Given the description of an element on the screen output the (x, y) to click on. 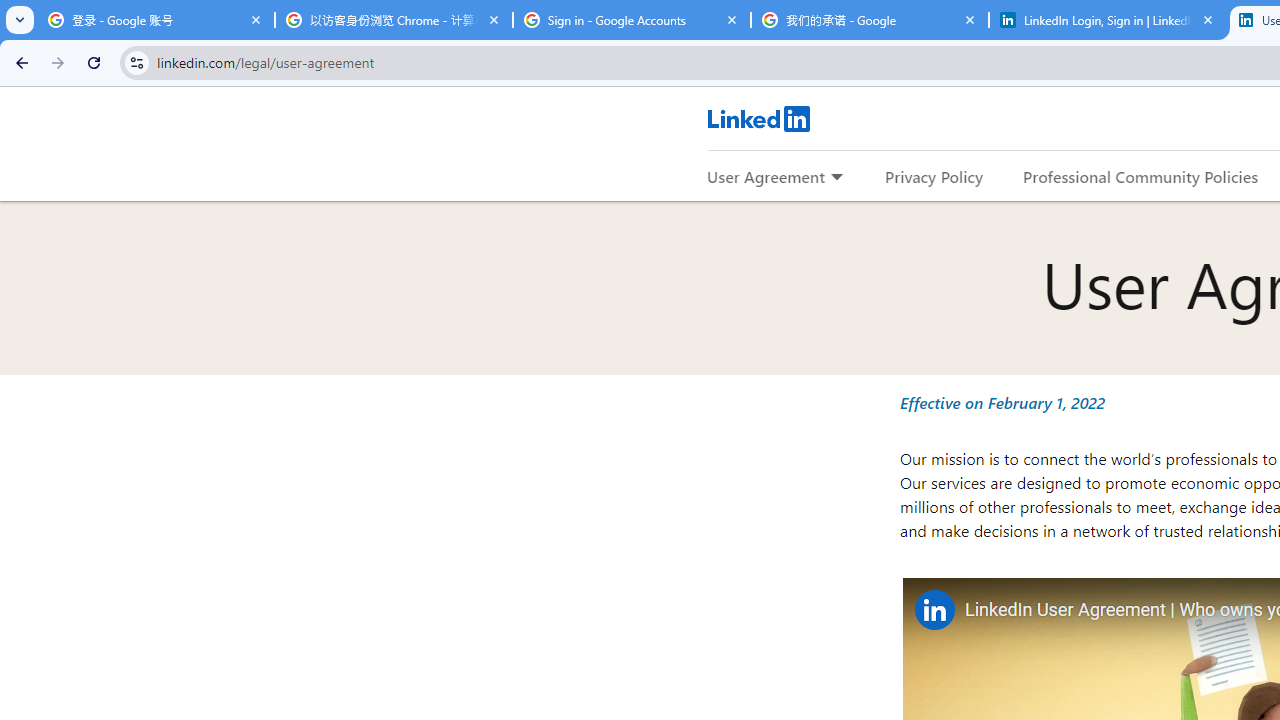
LinkedIn Login, Sign in | LinkedIn (1108, 20)
Effective on February 1, 2022 (1001, 402)
Sign in - Google Accounts (632, 20)
Professional Community Policies (1140, 176)
User Agreement (765, 176)
